Given the description of an element on the screen output the (x, y) to click on. 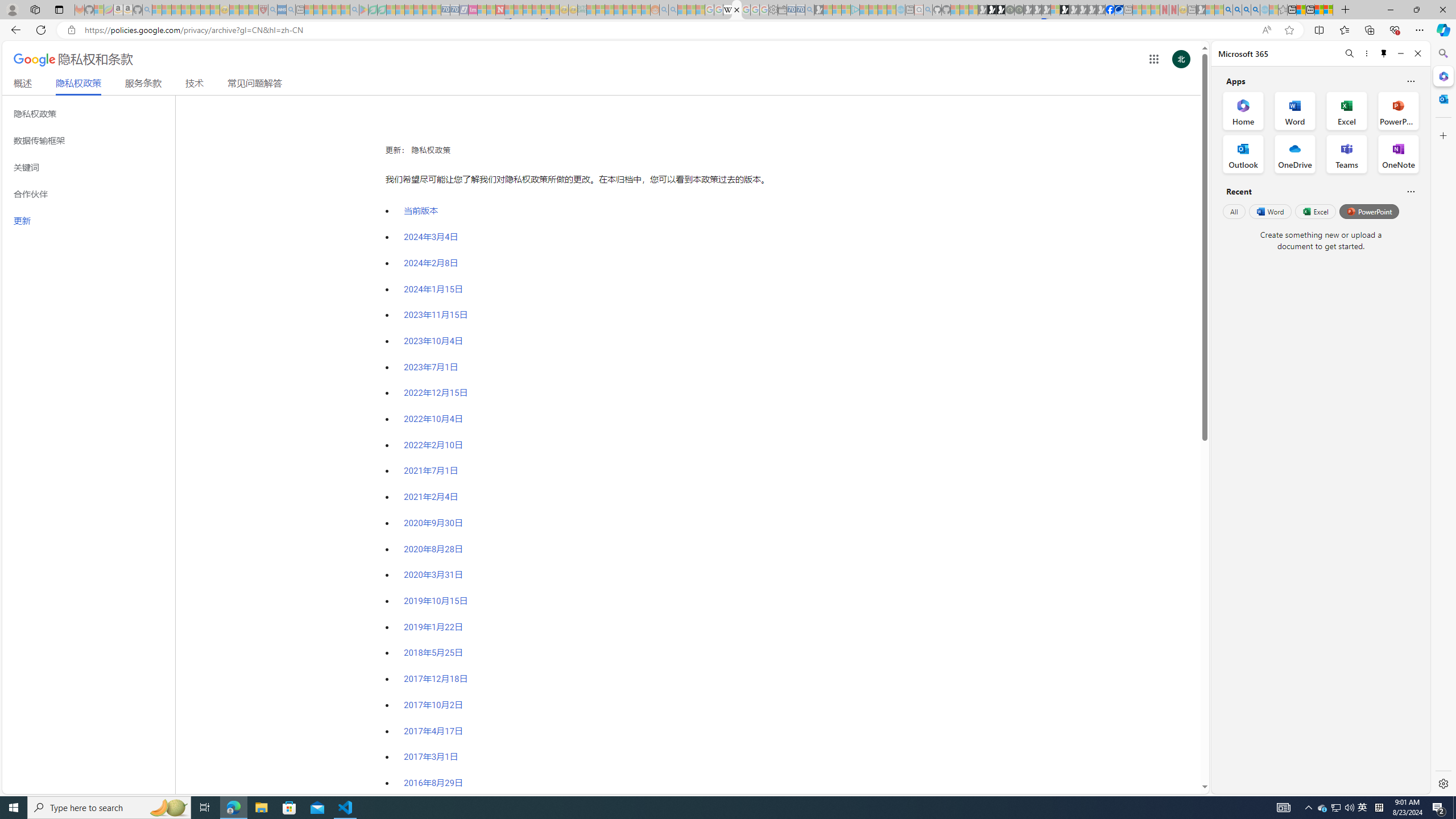
Utah sues federal government - Search - Sleeping (672, 9)
Robert H. Shmerling, MD - Harvard Health - Sleeping (263, 9)
Excel Office App (1346, 110)
Terms of Use Agreement - Sleeping (372, 9)
Class: gb_E (1153, 59)
